Given the description of an element on the screen output the (x, y) to click on. 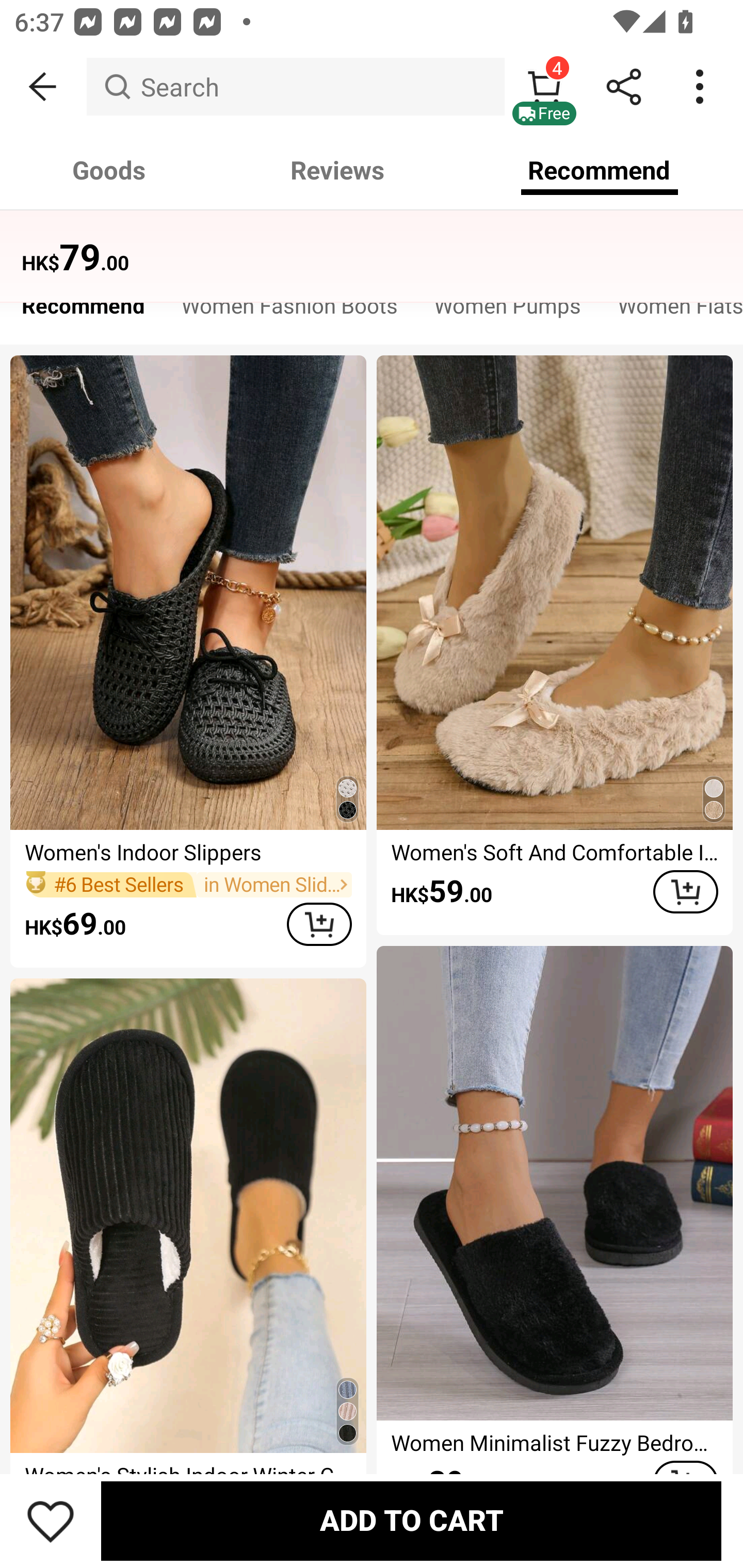
BACK (43, 86)
4 Free (543, 87)
Search (295, 87)
Goods (109, 170)
Reviews (337, 170)
Recommend (599, 170)
You May Also Like (371, 244)
Recommend (82, 310)
Women Fashion Boots (289, 310)
Women Pumps (507, 310)
Women Flats (671, 310)
#6 Best Sellers in Women Slides (188, 884)
ADD TO CART (685, 892)
ADD TO CART (319, 924)
ADD TO CART (411, 1520)
Save (50, 1520)
